Given the description of an element on the screen output the (x, y) to click on. 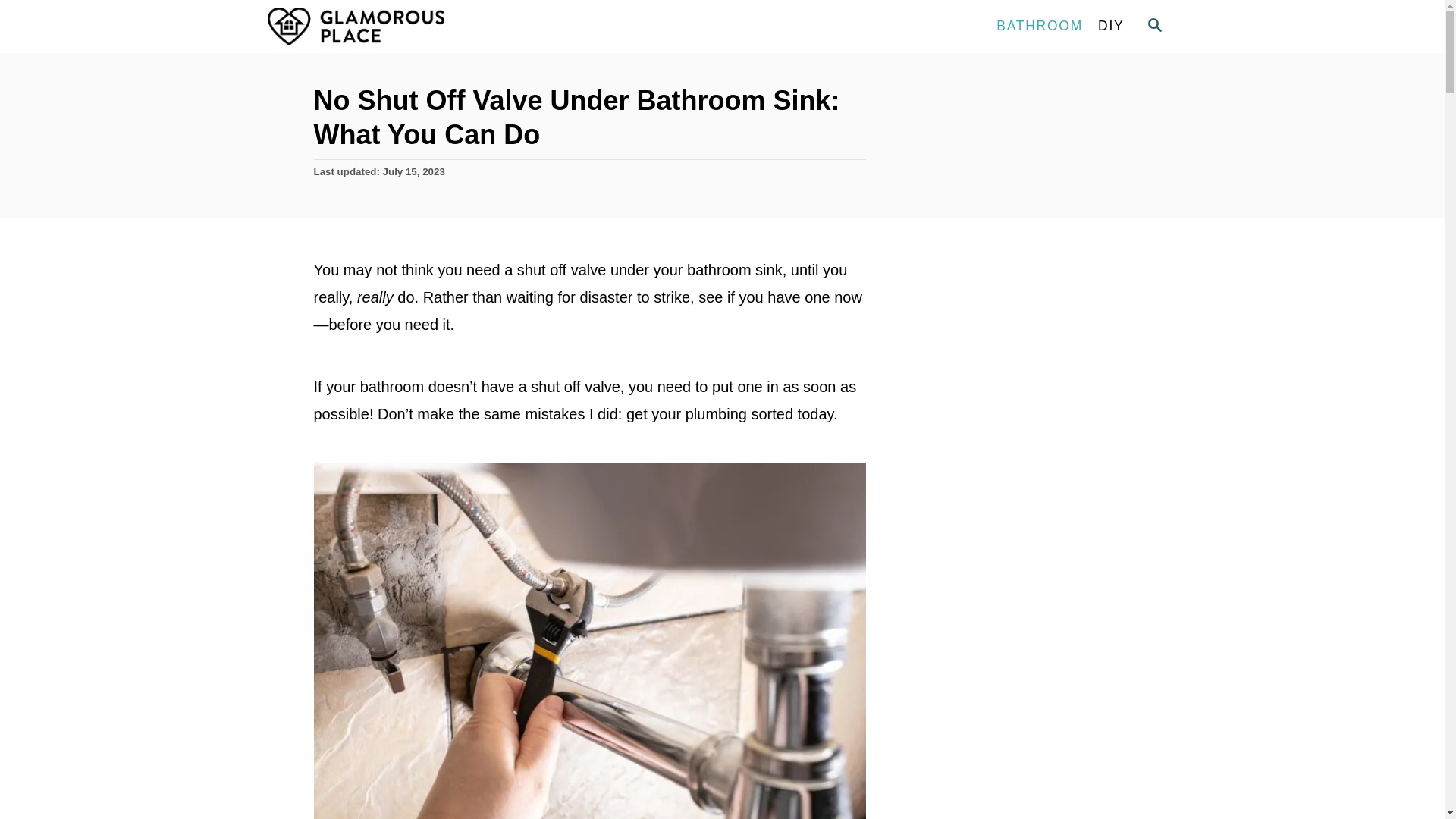
BATHROOM (1039, 26)
DIY (1110, 26)
SEARCH (1153, 26)
Glamorous Place (403, 26)
